Given the description of an element on the screen output the (x, y) to click on. 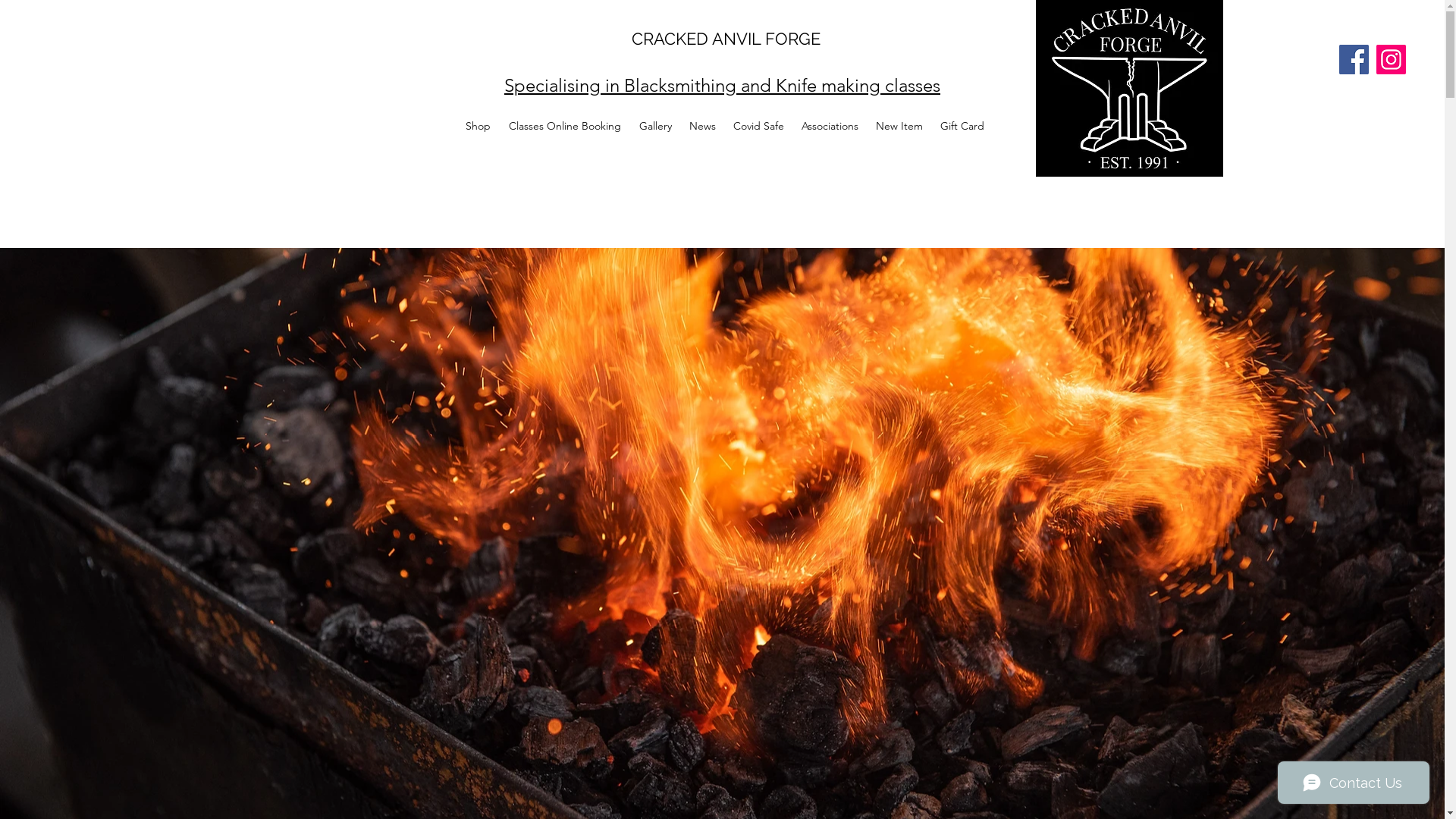
Specialising in Blacksmithing and Knife making classes Element type: text (722, 85)
Classes Online Booking Element type: text (563, 125)
Gift Card Element type: text (961, 125)
CRACKED ANVIL FORGE Element type: text (725, 38)
Shop Element type: text (477, 125)
Associations Element type: text (830, 125)
News Element type: text (702, 125)
Covid Safe Element type: text (758, 125)
Gallery Element type: text (654, 125)
